Given the description of an element on the screen output the (x, y) to click on. 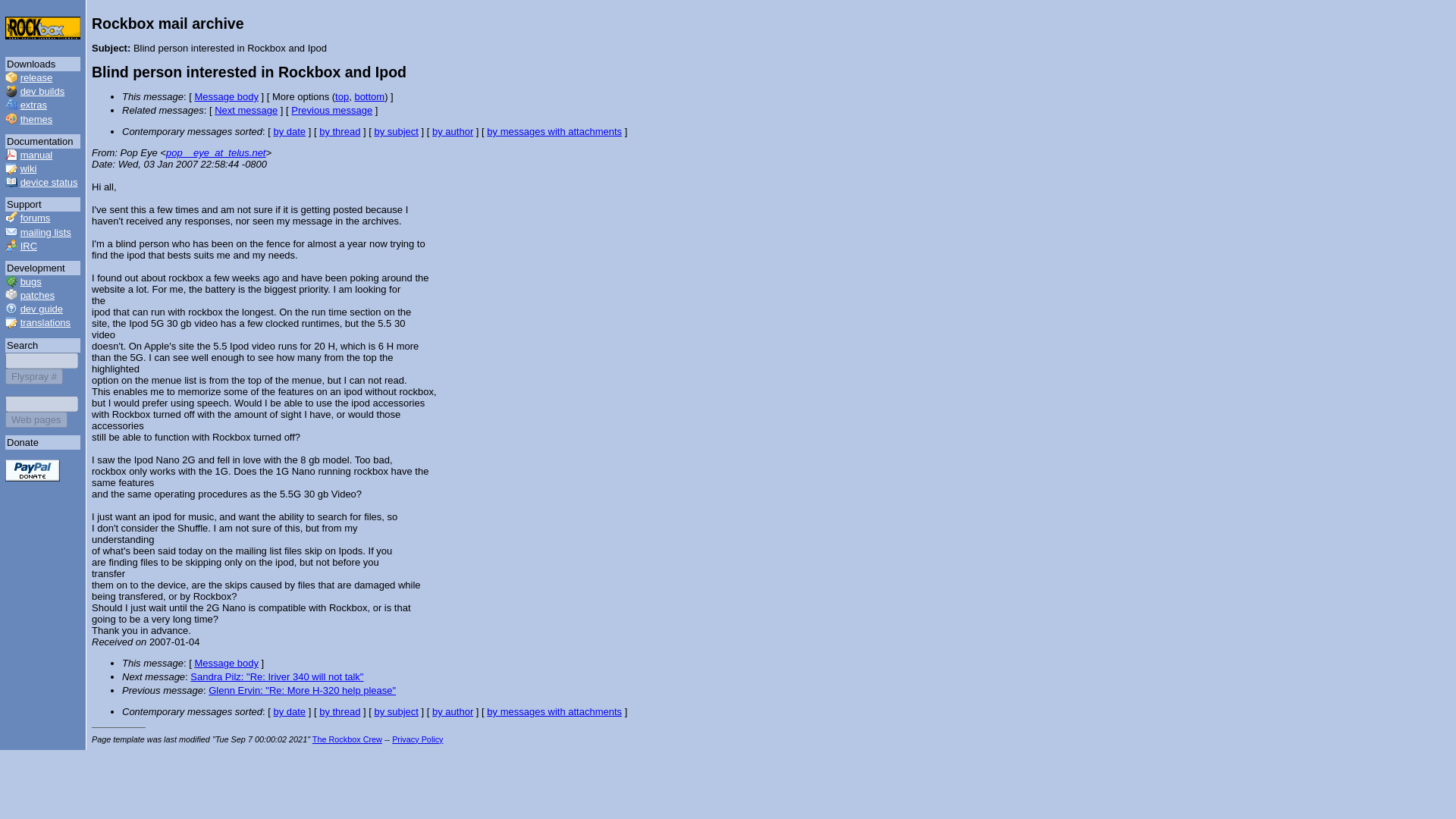
Contemporary discussion threads (338, 711)
Previous message (331, 110)
forums (35, 217)
by messages with attachments (553, 711)
Web pages (35, 419)
Next message in the list (276, 676)
Contemporary messages by attachment (553, 131)
by author (452, 131)
patches (37, 295)
by date (289, 711)
Message body (226, 96)
bottom (368, 96)
by thread (338, 711)
Message body (226, 663)
Contemporary messages by author (452, 711)
